Given the description of an element on the screen output the (x, y) to click on. 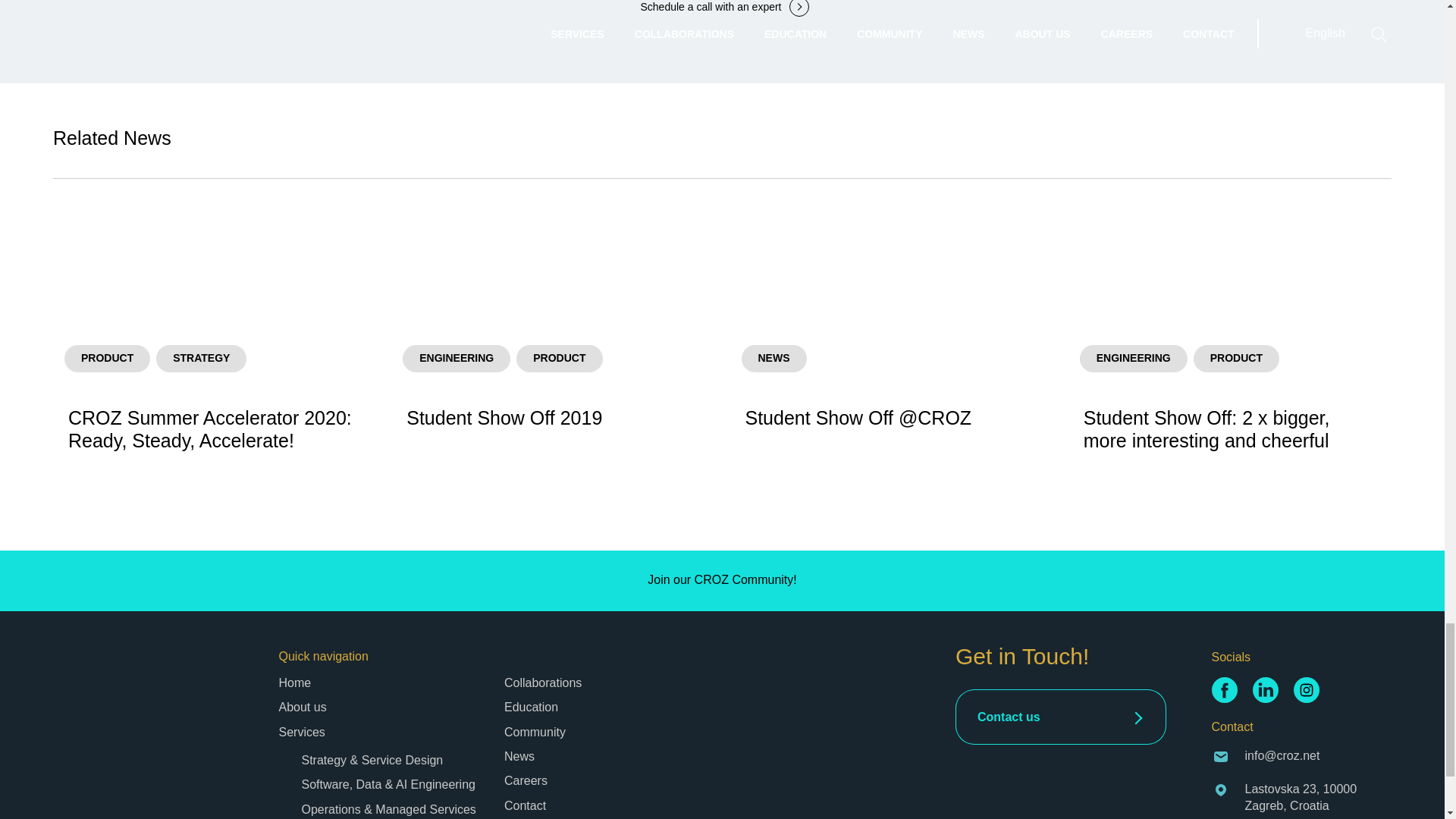
Home (295, 682)
Services (301, 731)
Join our CROZ Community! (552, 345)
About us (721, 580)
Schedule a call with an expert (302, 707)
